Given the description of an element on the screen output the (x, y) to click on. 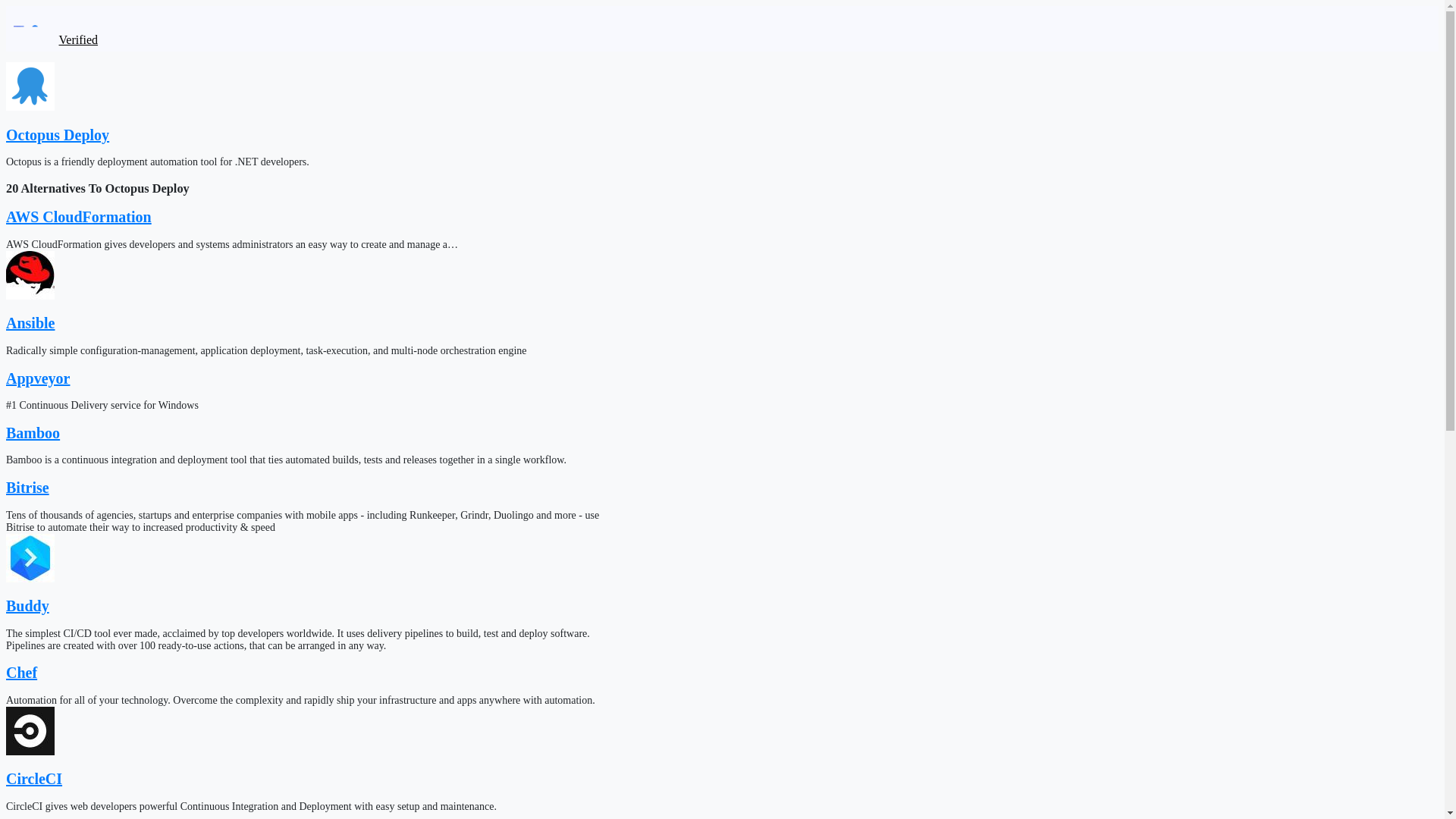
Ansible (30, 322)
Bitrise (27, 487)
Verified (79, 39)
AWS CloudFormation (78, 216)
Buddy (27, 605)
CircleCI (33, 778)
Chef (21, 672)
Bamboo (32, 433)
Appveyor (37, 378)
Octopus Deploy (57, 134)
